Given the description of an element on the screen output the (x, y) to click on. 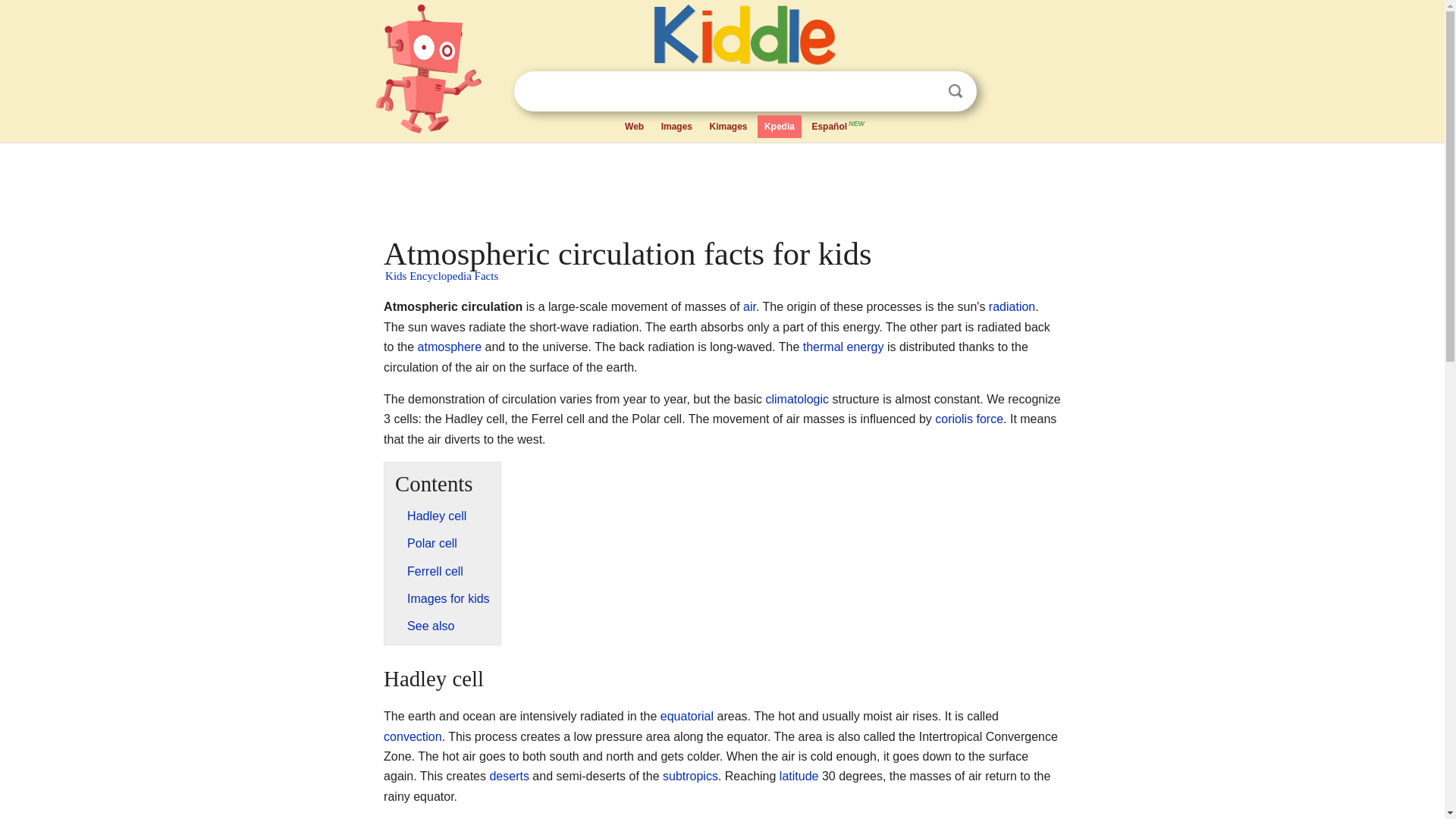
Heat (843, 346)
Radiation (1011, 306)
Images for kids (448, 598)
subtropics (689, 775)
air (748, 306)
thermal energy (843, 346)
Convection (413, 736)
Atmosphere of Earth (449, 346)
Kpedia (779, 126)
radiation (1011, 306)
Clear (924, 91)
coriolis force (968, 418)
latitude (798, 775)
convection (413, 736)
See also (430, 625)
